Given the description of an element on the screen output the (x, y) to click on. 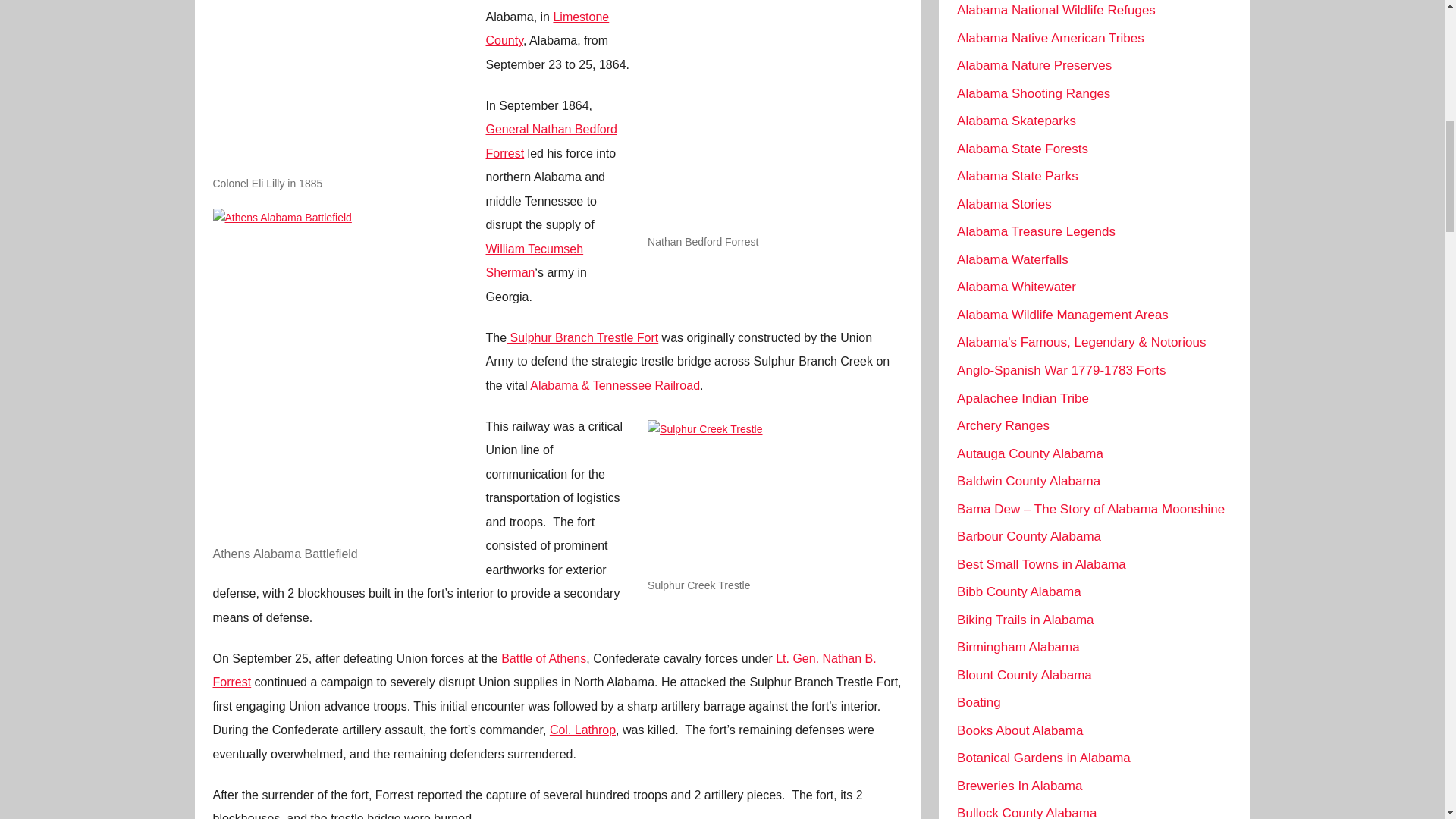
William Tecumseh Sherman (533, 261)
Sulphur Branch Trestle Fort (582, 337)
Battle of Athens (543, 658)
General Nathan Bedford Forrest (549, 140)
Limestone County (546, 28)
Col. Lathrop (582, 729)
Lt. Gen. Nathan B. Forrest (544, 670)
